Given the description of an element on the screen output the (x, y) to click on. 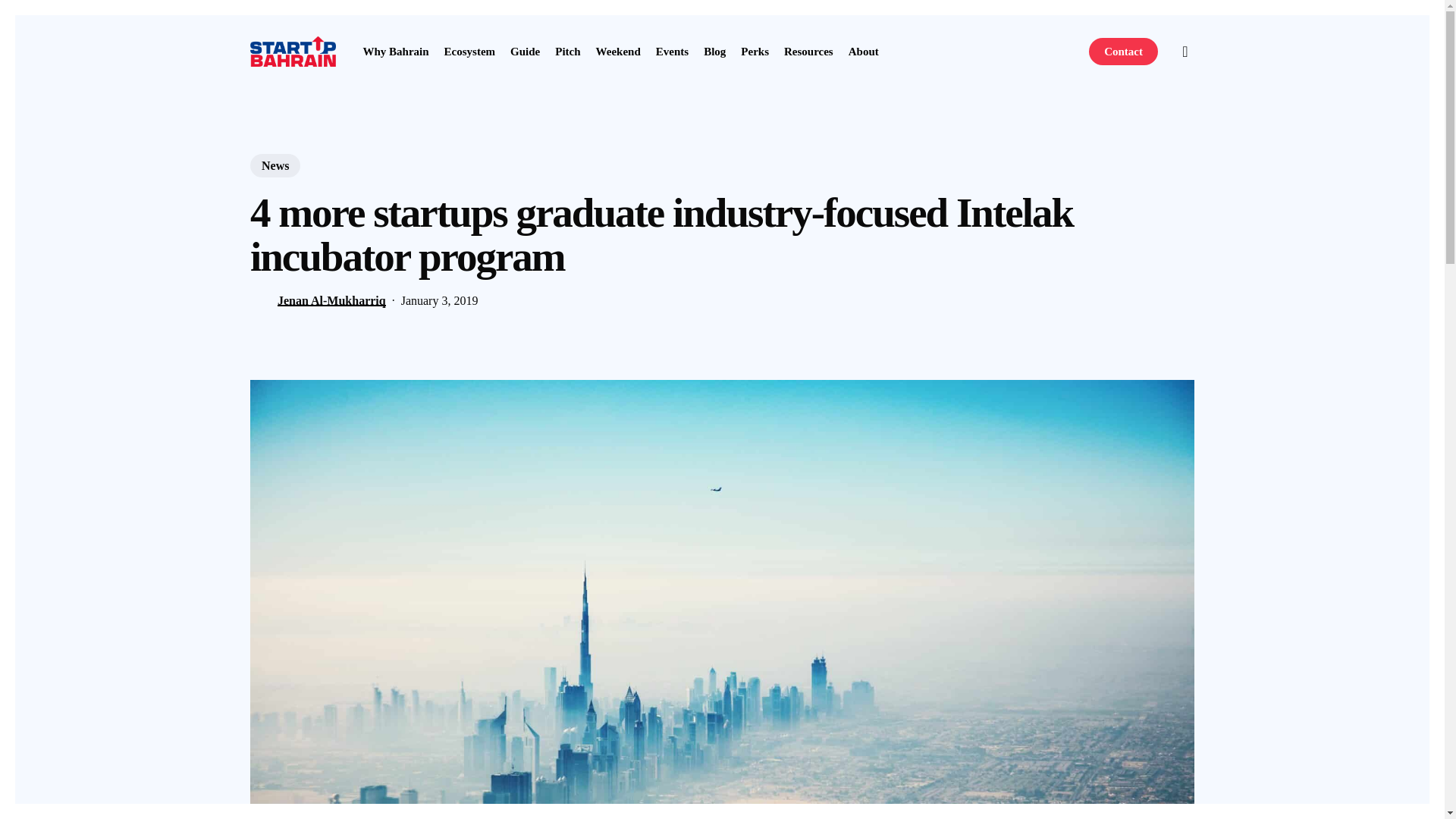
search (1184, 51)
Resources (808, 50)
Pitch (567, 50)
Guide (524, 50)
About (863, 50)
Perks (754, 50)
Jenan Al-Mukharriq (331, 300)
Blog (714, 50)
Posts by Jenan Al-Mukharriq (331, 300)
News (274, 165)
